Given the description of an element on the screen output the (x, y) to click on. 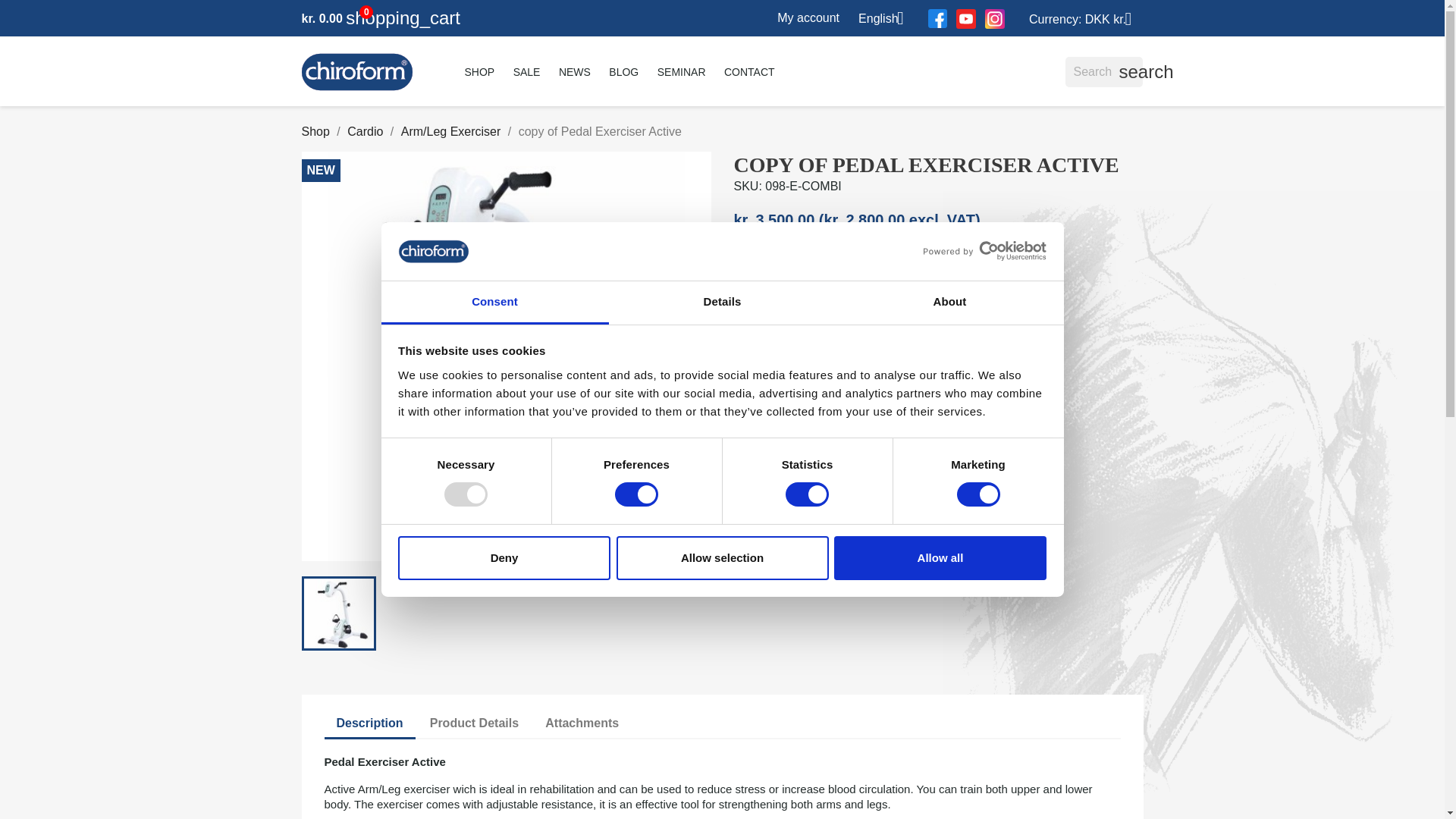
Deny (503, 557)
1 (751, 284)
About (948, 302)
Consent (494, 302)
Allow selection (721, 557)
Details (721, 302)
Allow all (940, 557)
